Given the description of an element on the screen output the (x, y) to click on. 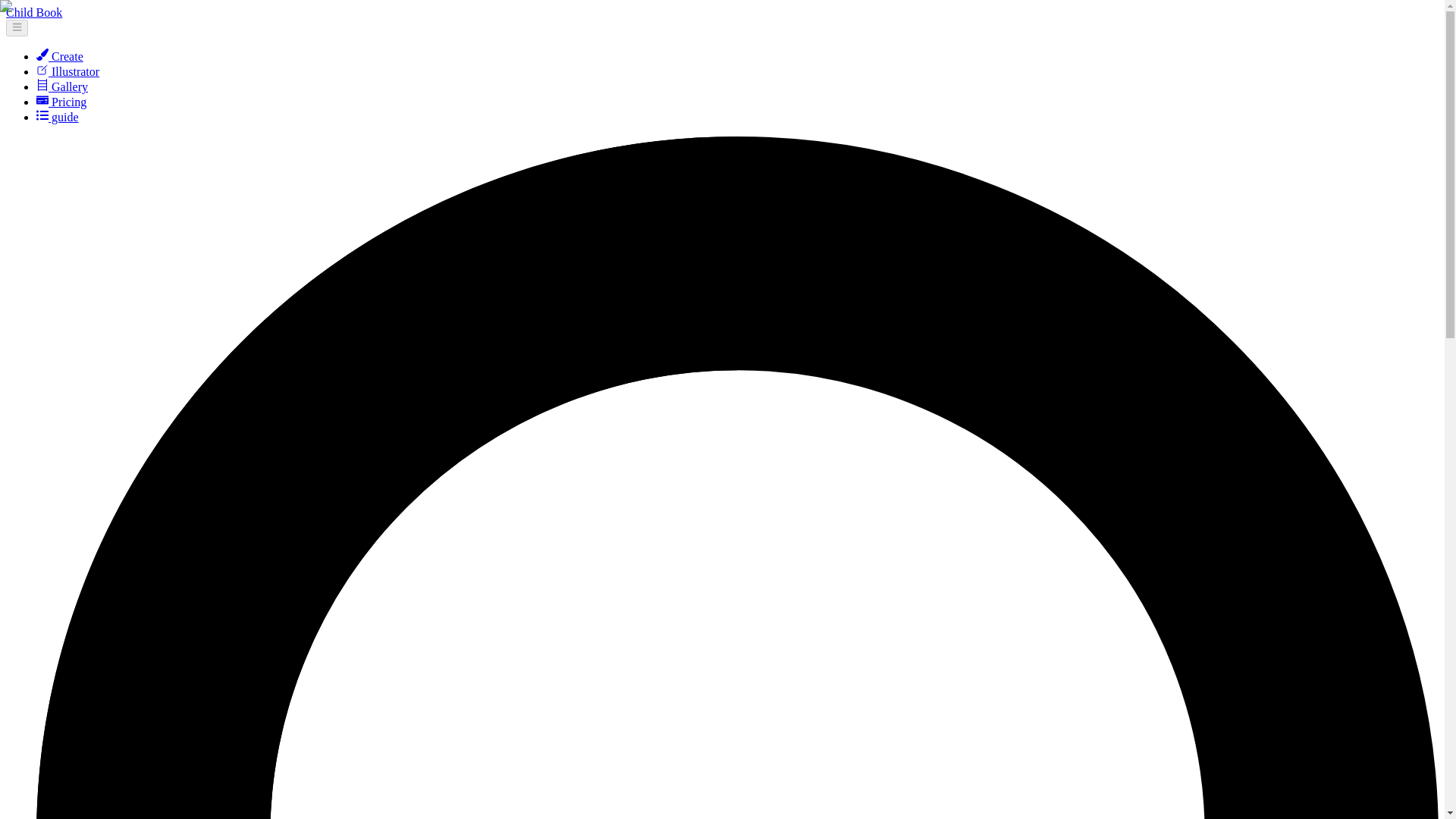
Create (59, 56)
Gallery (61, 86)
Pricing (60, 101)
Illustrator (67, 71)
guide (57, 116)
Toggle Menu (16, 27)
Child Book (33, 11)
